Given the description of an element on the screen output the (x, y) to click on. 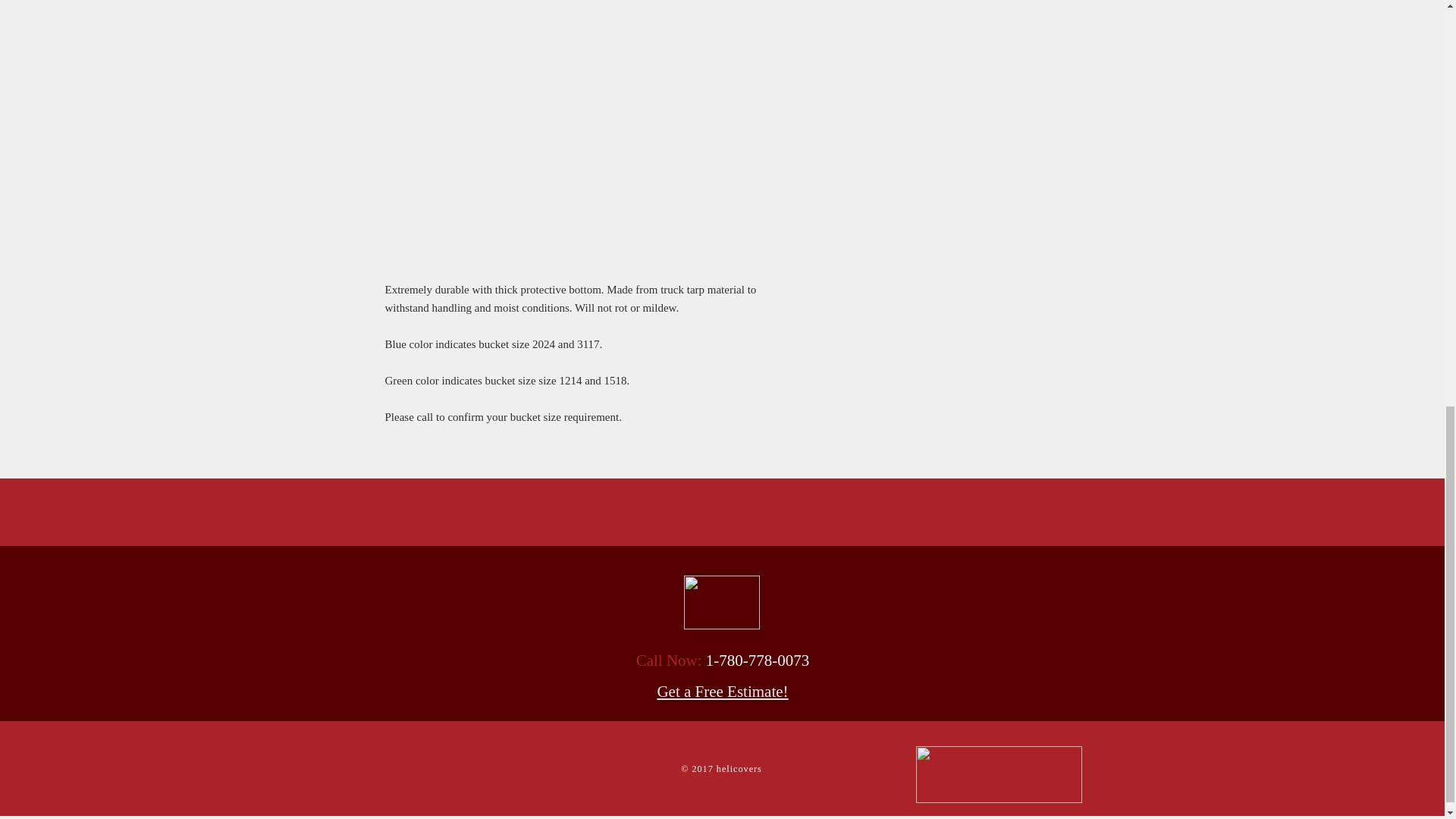
1- (712, 660)
Get a Free Estimate! (721, 691)
